Given the description of an element on the screen output the (x, y) to click on. 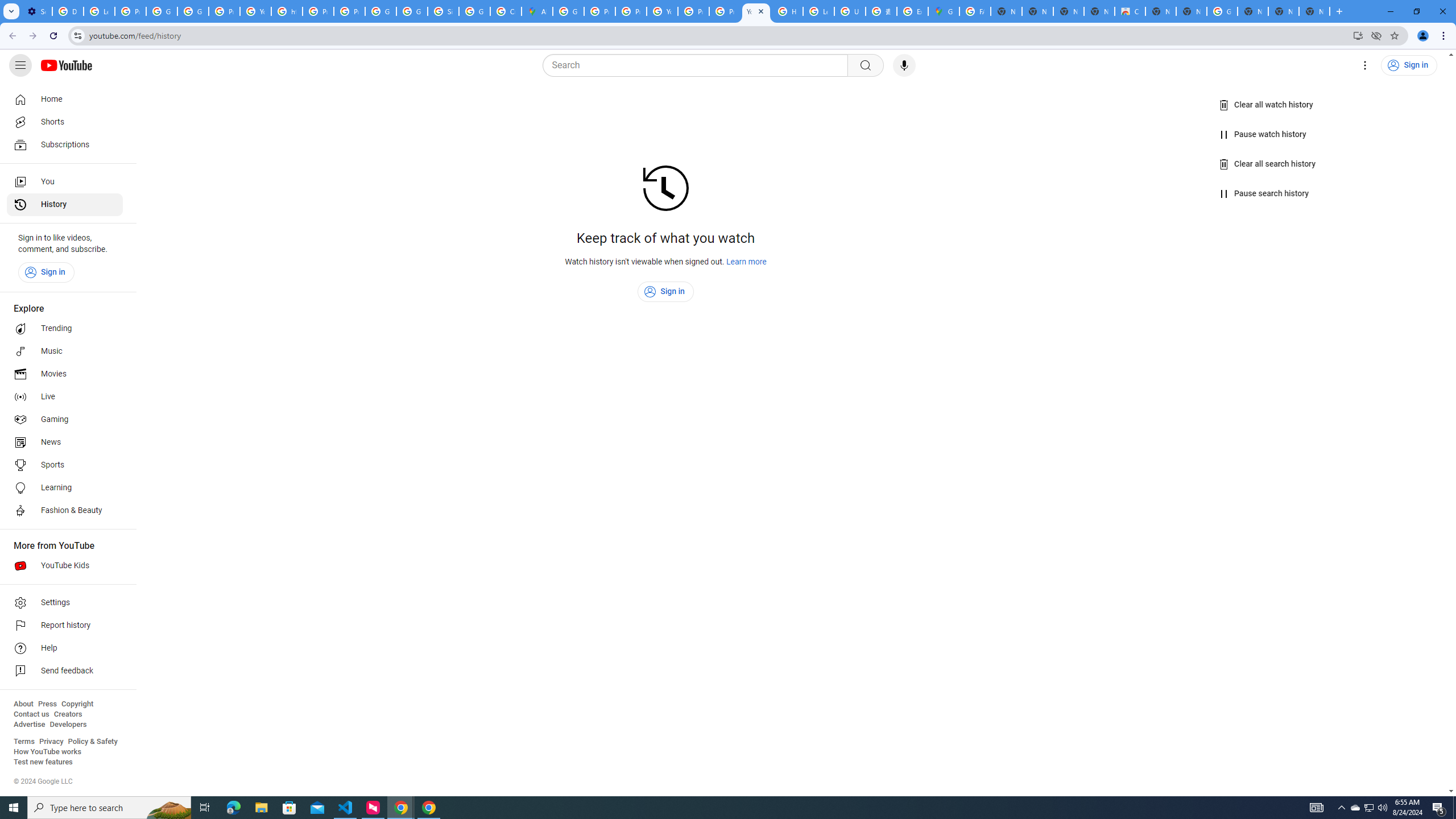
https://scholar.google.com/ (286, 11)
Privacy Help Center - Policies Help (318, 11)
Sports (64, 464)
Learn more (746, 261)
Report history (64, 625)
Guide (20, 65)
New Tab (1252, 11)
YouTube (662, 11)
Google Maps (943, 11)
